Given the description of an element on the screen output the (x, y) to click on. 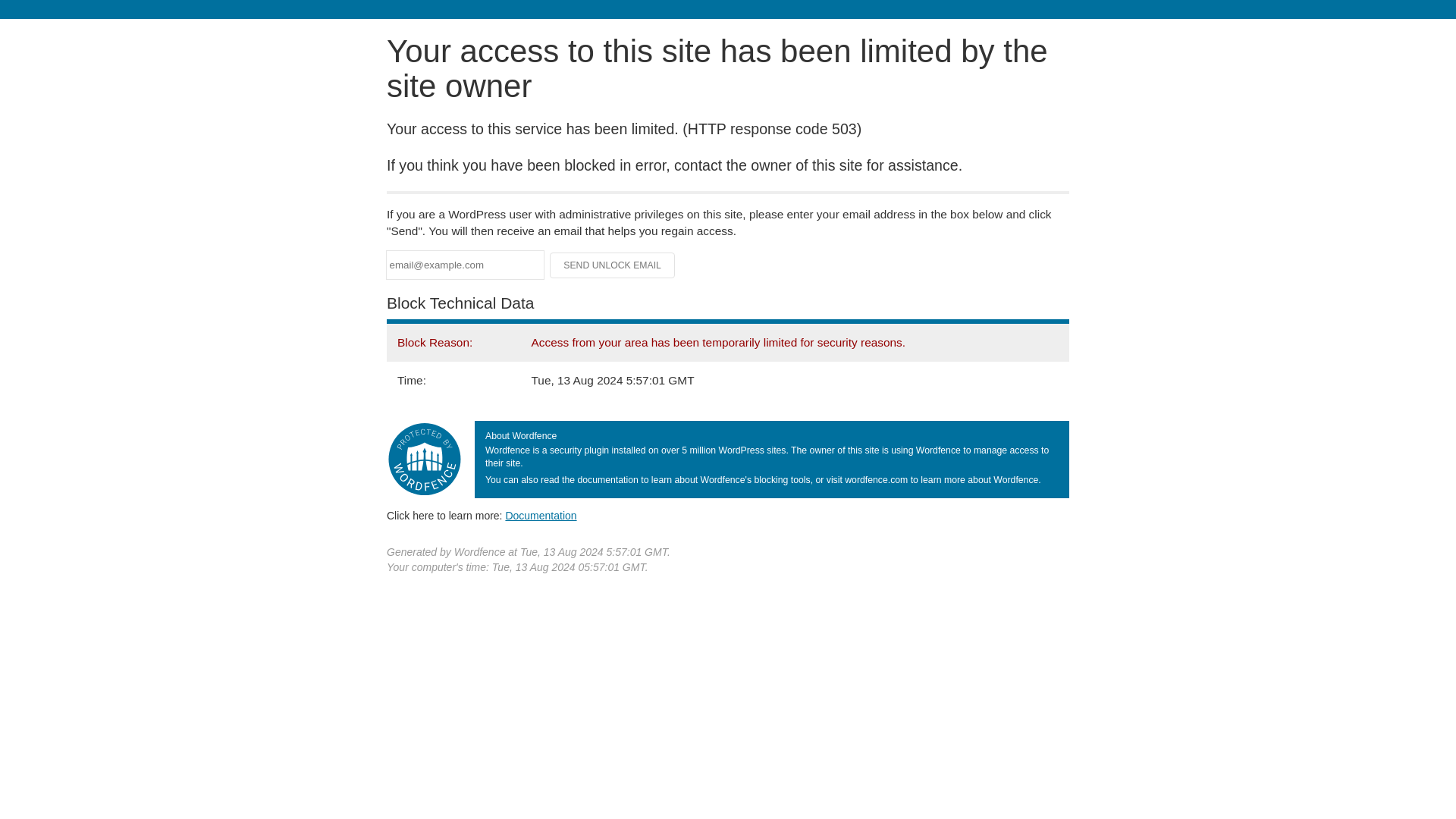
Send Unlock Email (612, 265)
Send Unlock Email (612, 265)
Documentation (540, 515)
